Given the description of an element on the screen output the (x, y) to click on. 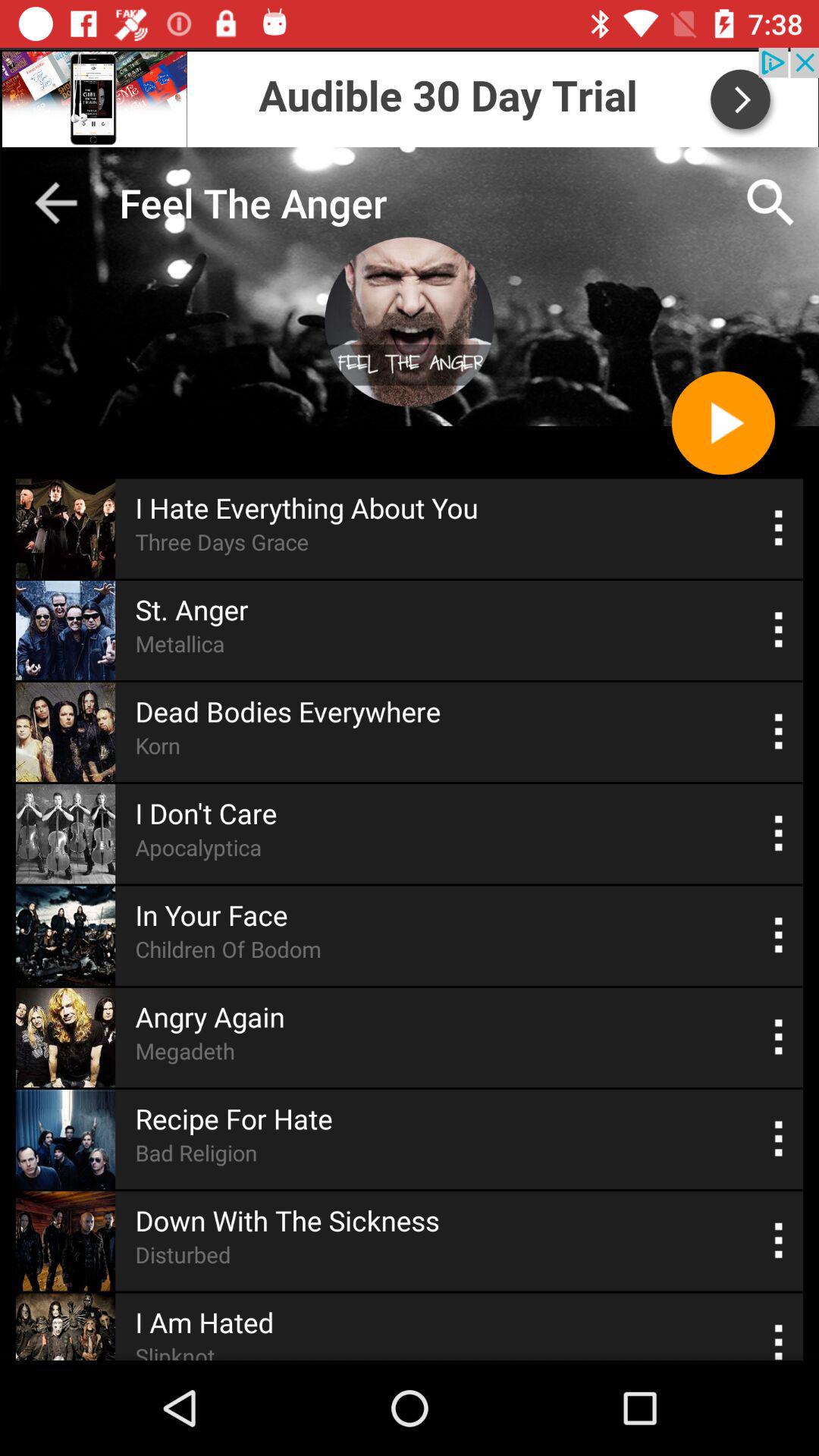
more options (779, 731)
